Given the description of an element on the screen output the (x, y) to click on. 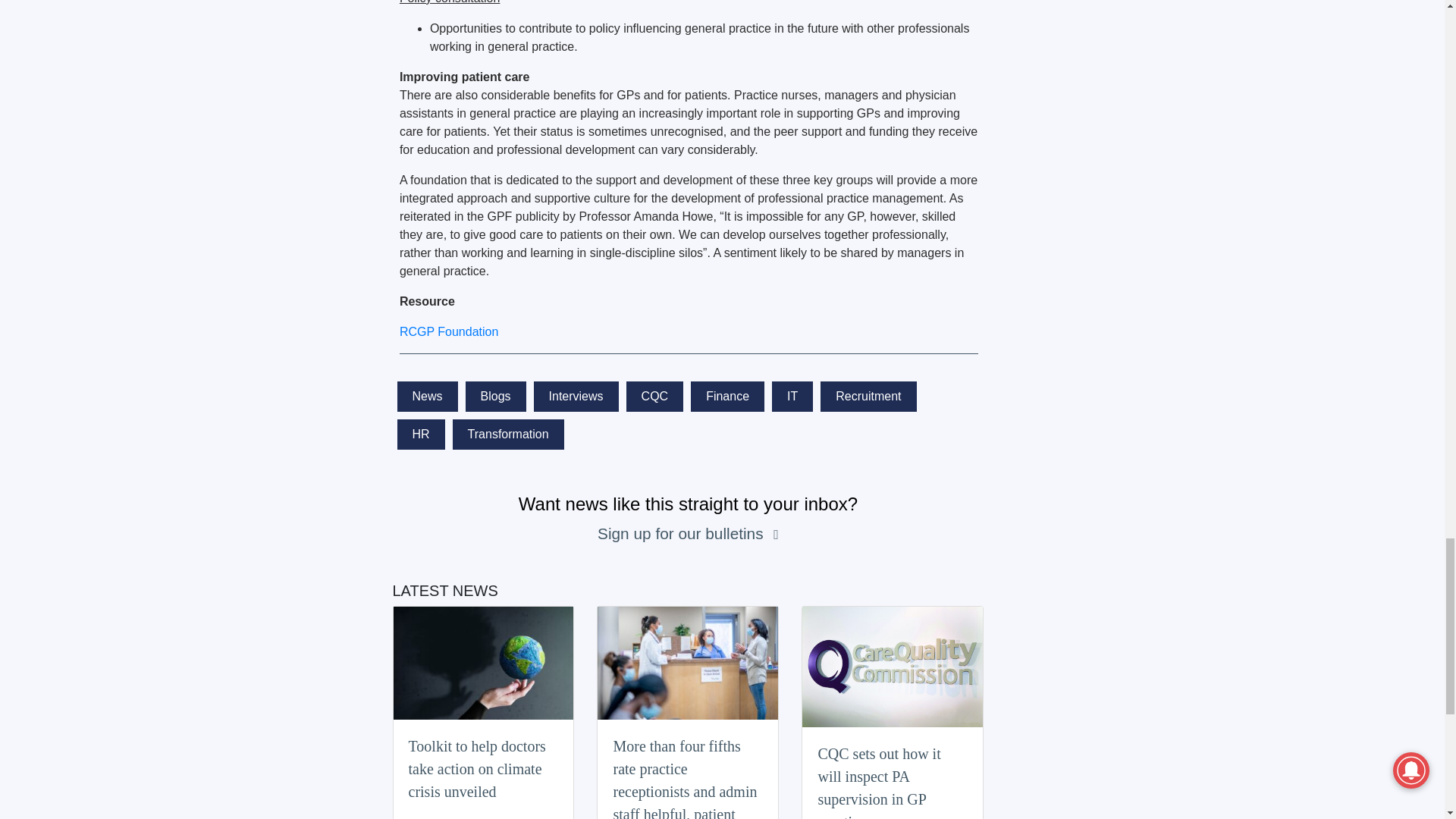
Sign up for our bulletins (681, 533)
